Given the description of an element on the screen output the (x, y) to click on. 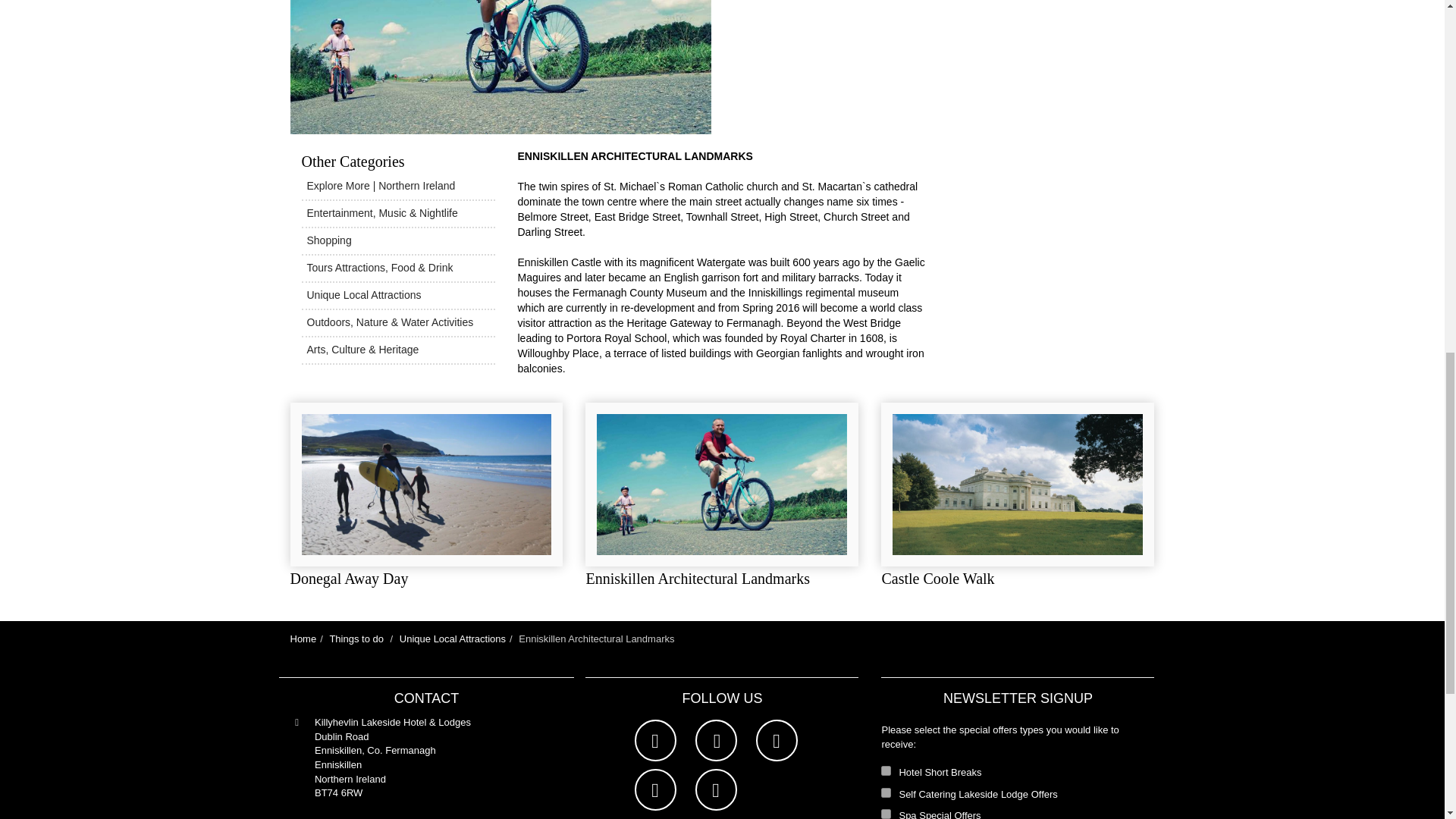
13667 (885, 770)
13664 (885, 814)
13665 (885, 791)
